Given the description of an element on the screen output the (x, y) to click on. 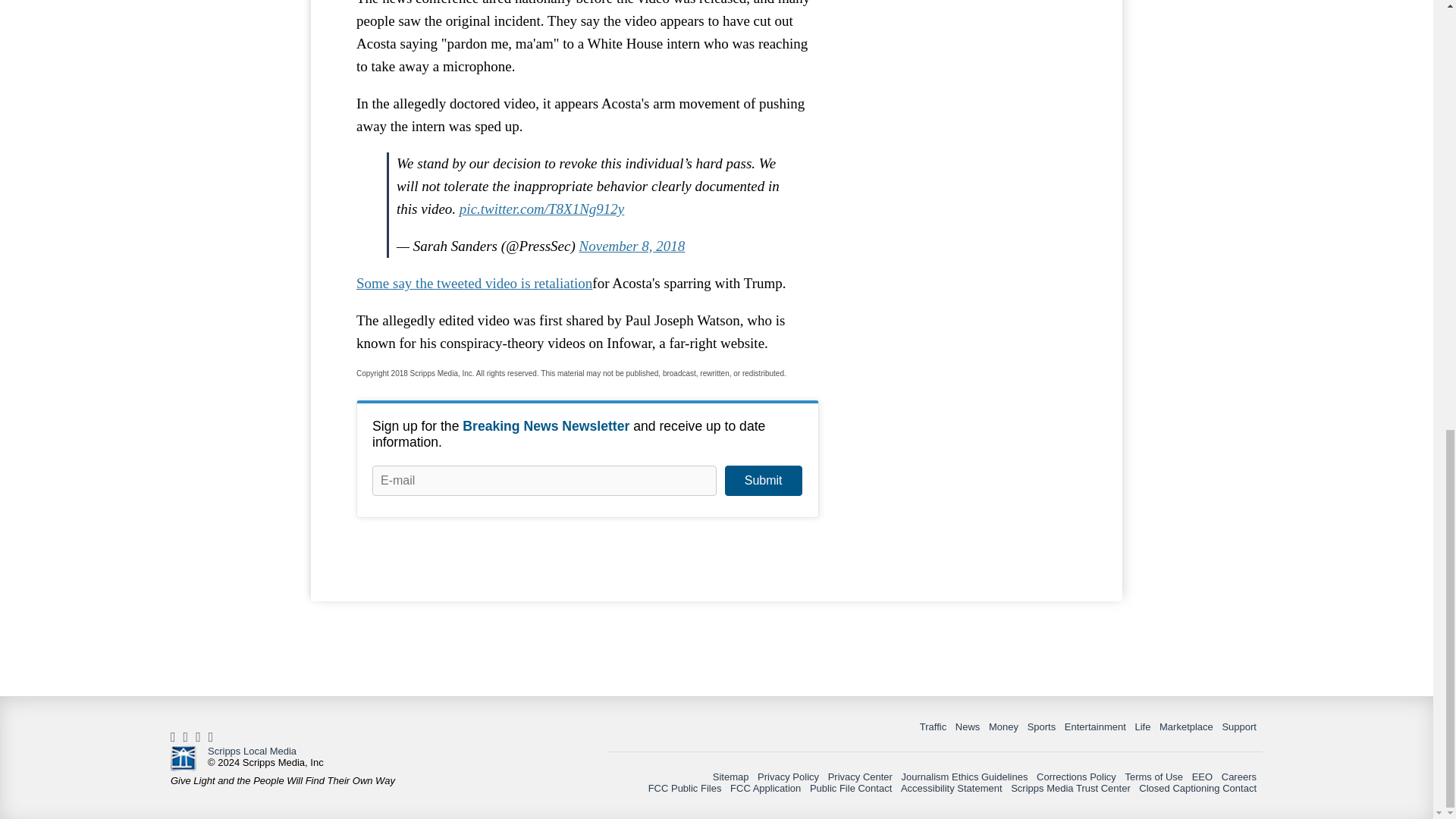
Submit (763, 481)
